Given the description of an element on the screen output the (x, y) to click on. 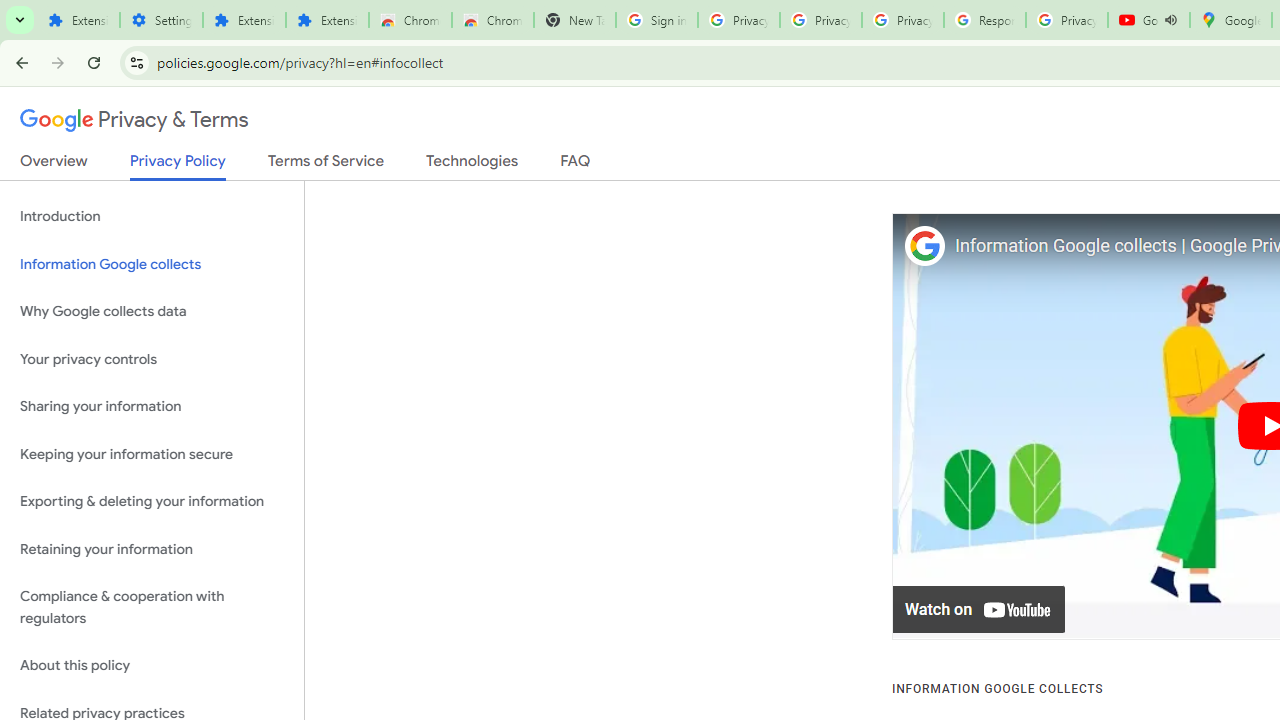
FAQ (575, 165)
Information Google collects (152, 263)
Exporting & deleting your information (152, 502)
Your privacy controls (152, 358)
Sharing your information (152, 407)
Mute tab (1170, 20)
About this policy (152, 666)
New Tab (574, 20)
Retaining your information (152, 548)
